Given the description of an element on the screen output the (x, y) to click on. 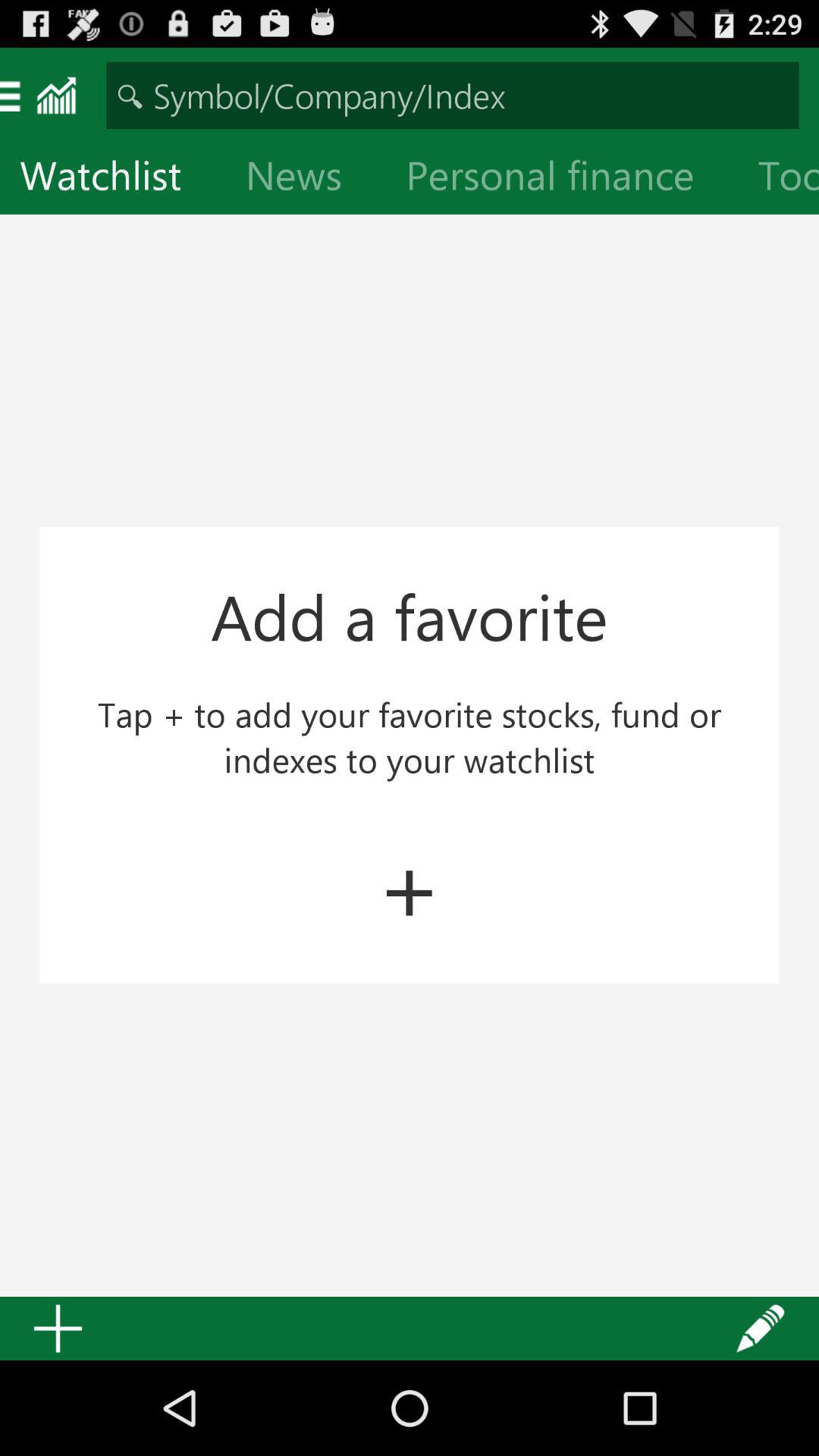
open icon next to tools icon (562, 178)
